Given the description of an element on the screen output the (x, y) to click on. 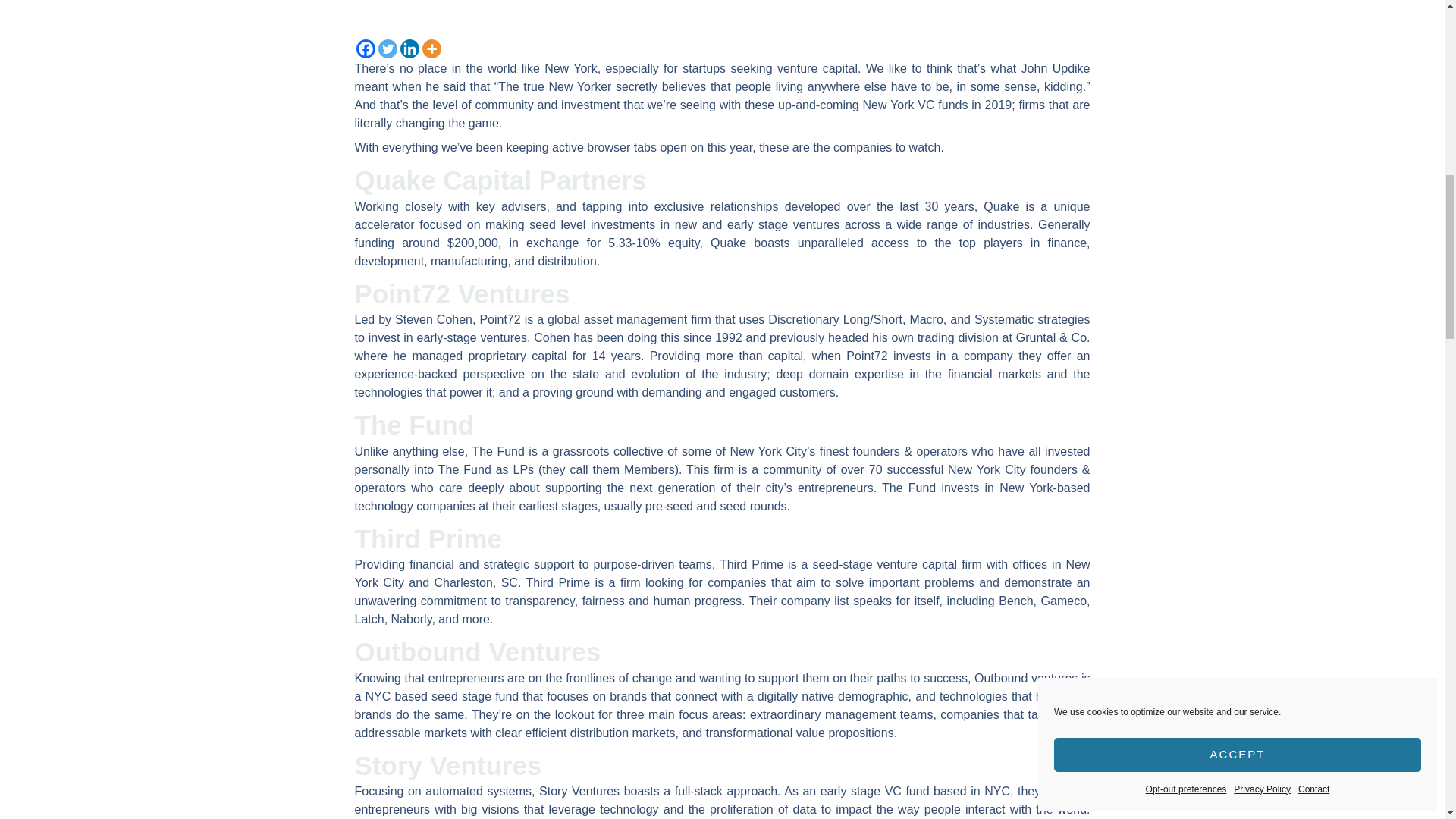
More (431, 48)
Story Ventures (448, 765)
Quake Capital Partners (500, 179)
Twitter (386, 48)
Outbound Ventures (478, 651)
Linkedin (409, 48)
Third Prime (428, 538)
Facebook (365, 48)
The Fund (414, 424)
Point72 Ventures (462, 293)
